Given the description of an element on the screen output the (x, y) to click on. 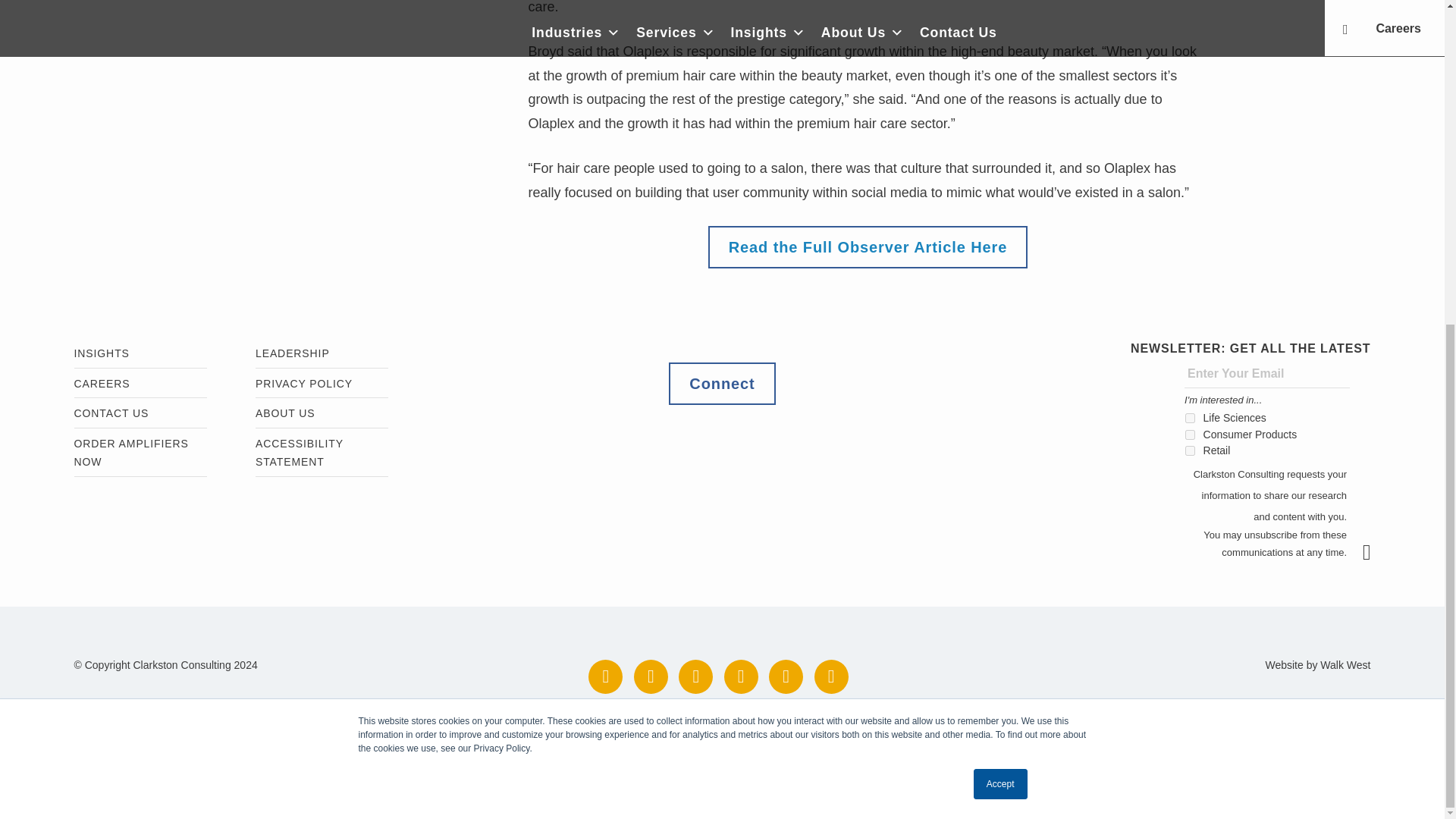
Submit (1374, 551)
Retail Industry (1190, 450)
Life Sciences (1190, 418)
Consumer Products and Retail (1190, 434)
Accept (1000, 254)
